Given the description of an element on the screen output the (x, y) to click on. 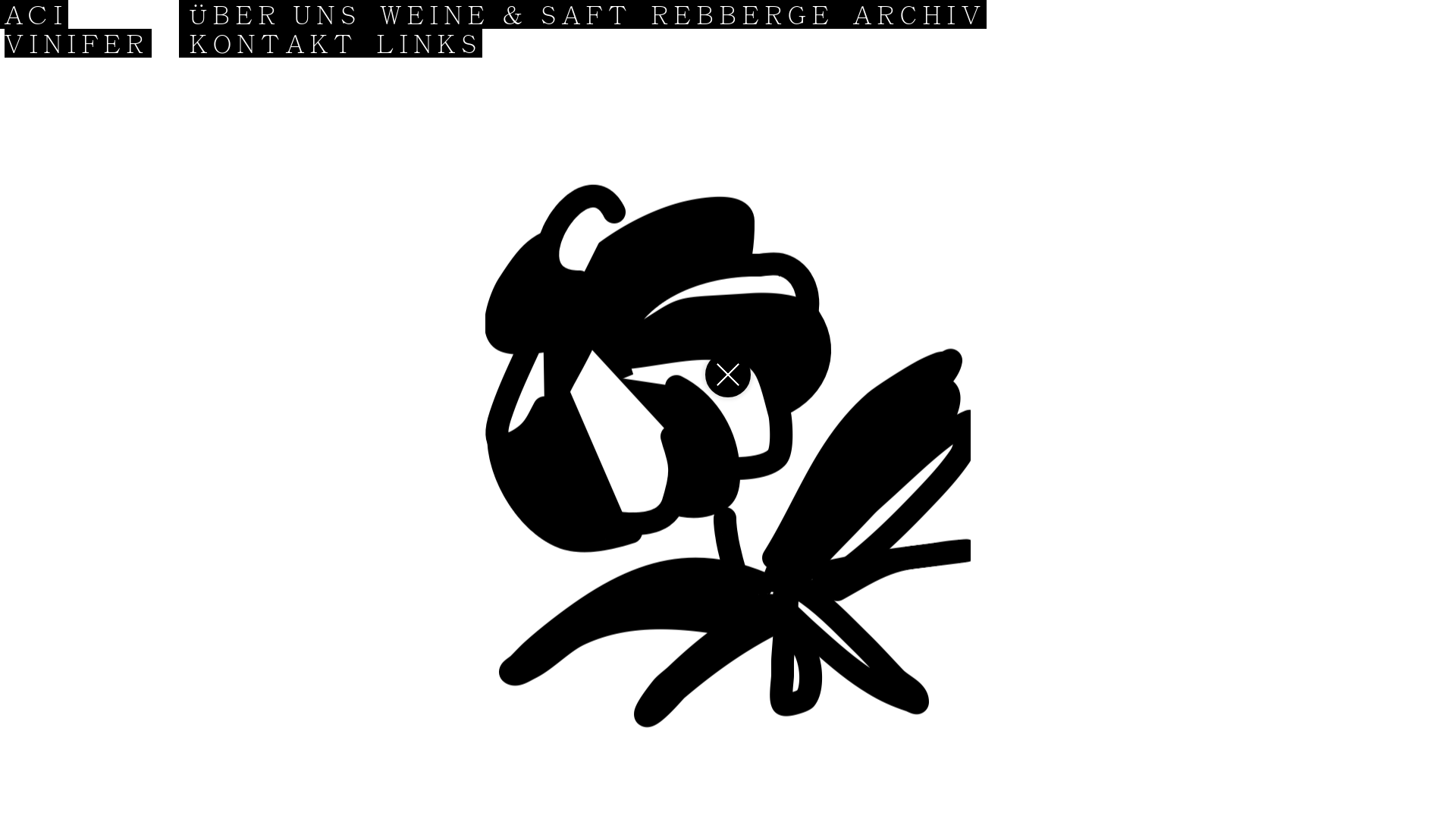
WEINE & SAFT Element type: text (512, 14)
ACI
VINIFER Element type: text (76, 28)
REBBERGE Element type: text (749, 14)
Neue Zeichnung Element type: hover (727, 374)
LINKS Element type: text (429, 42)
ARCHIV Element type: text (919, 14)
KONTAKT Element type: text (279, 42)
